Given the description of an element on the screen output the (x, y) to click on. 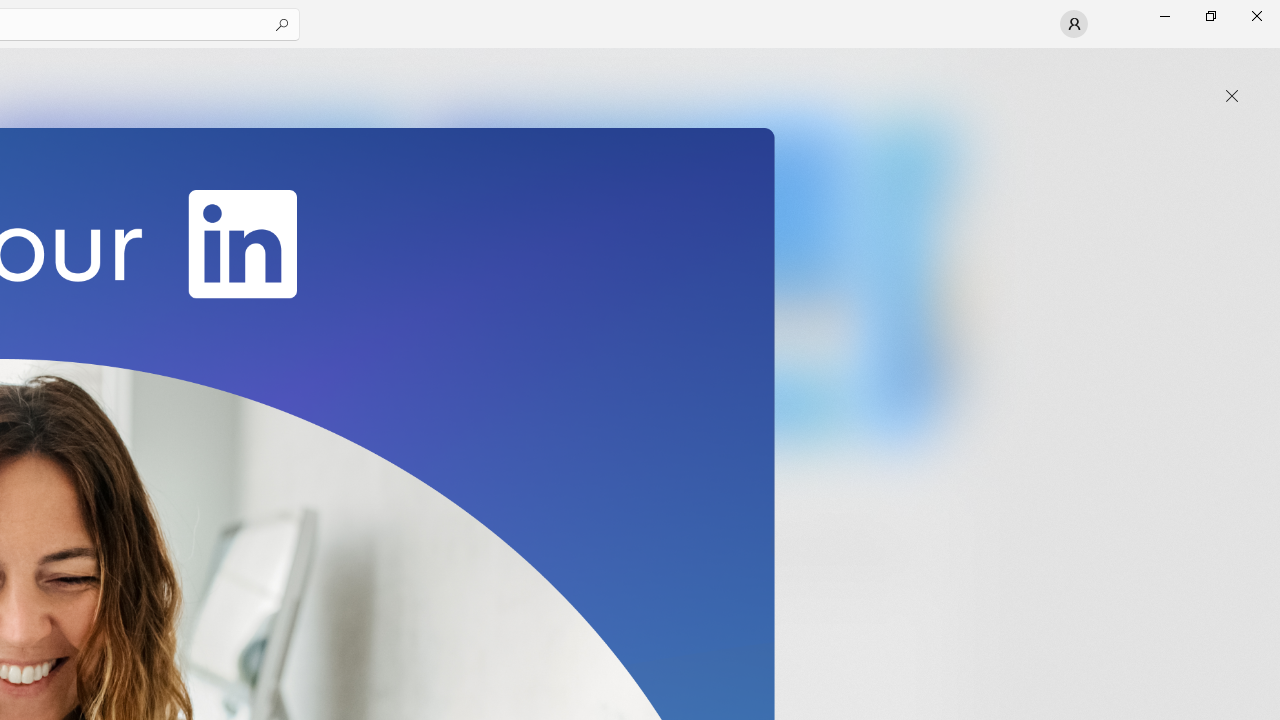
Screenshot 3 (636, 279)
close popup window (1232, 95)
Restore Microsoft Store (1210, 15)
See all (924, 72)
User profile (1073, 24)
Close Microsoft Store (1256, 15)
Screenshot 4 (912, 279)
Minimize Microsoft Store (1164, 15)
